Given the description of an element on the screen output the (x, y) to click on. 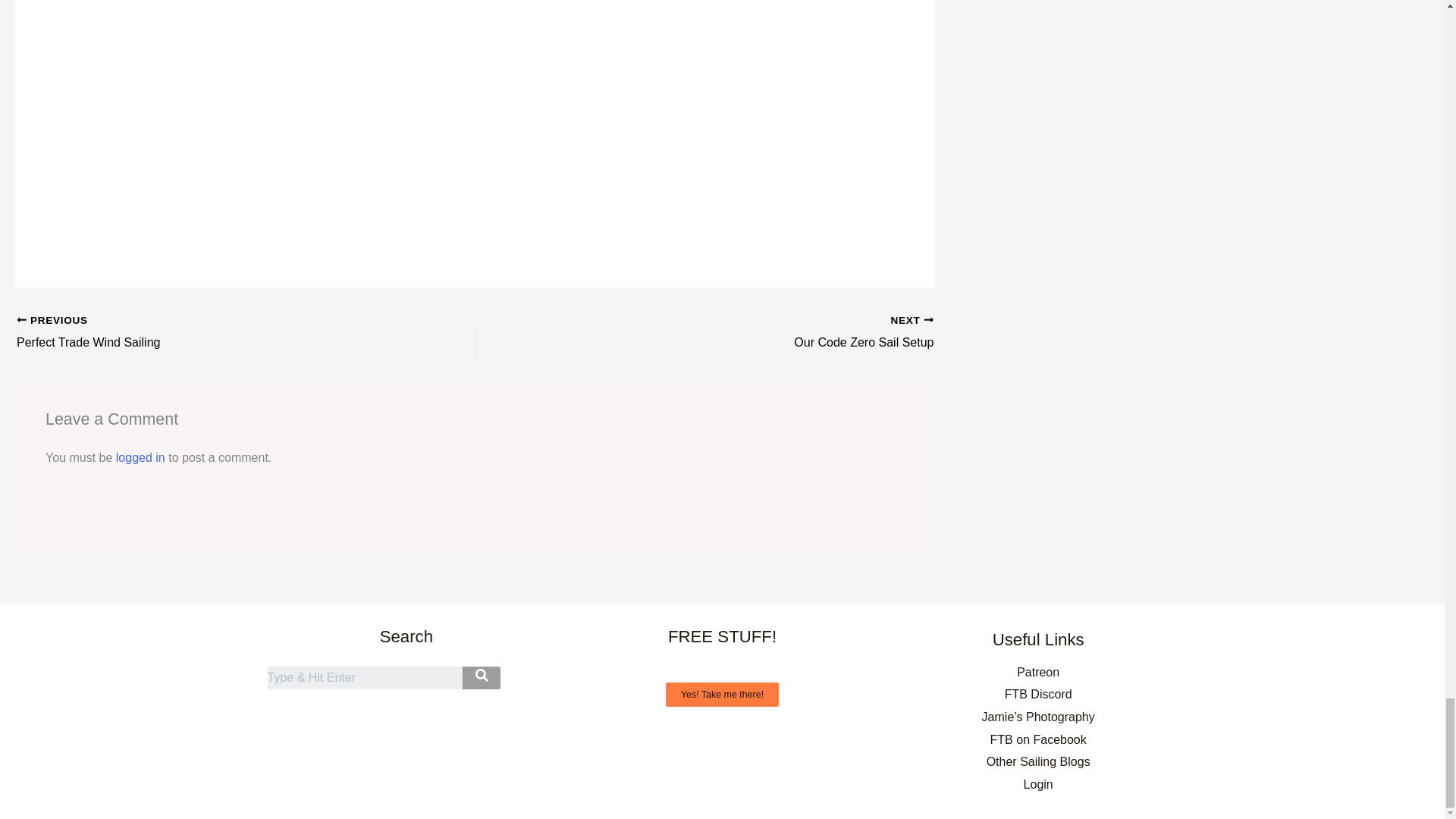
Perfect Trade Wind Sailing (200, 341)
logged in (140, 457)
Our Code Zero Sail Setup (200, 341)
Search (749, 341)
